Given the description of an element on the screen output the (x, y) to click on. 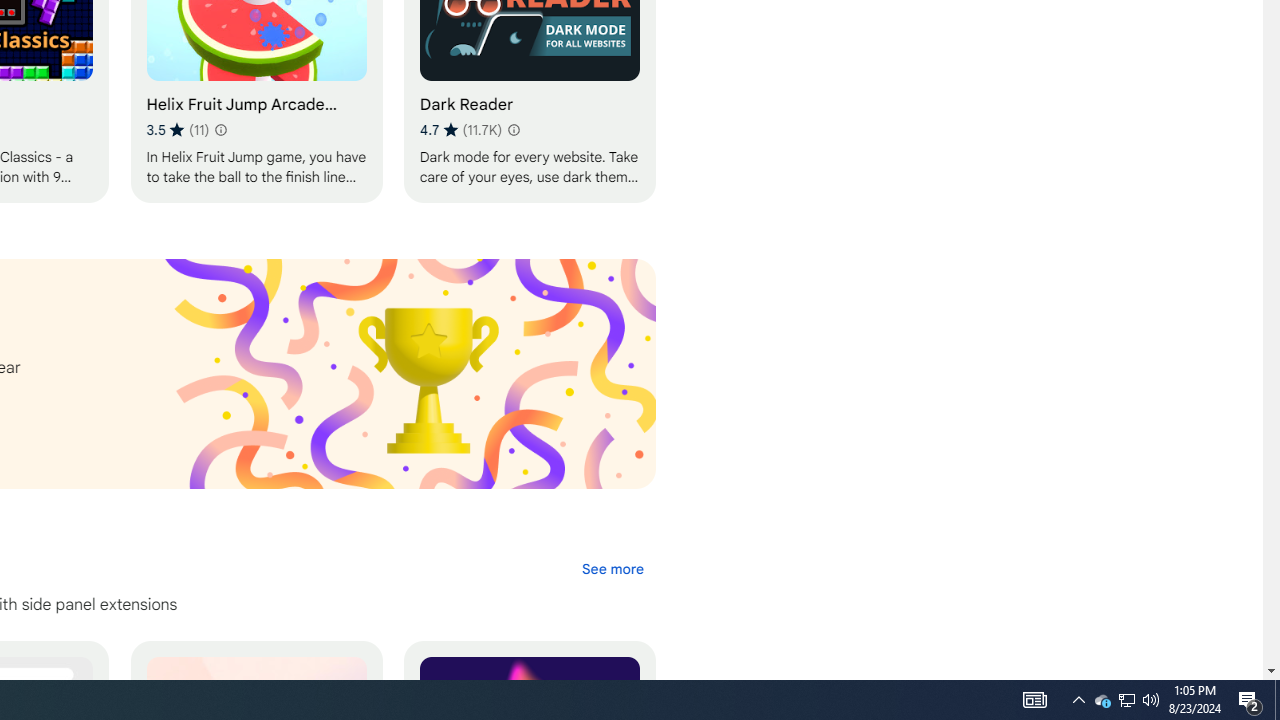
See more of the "Extend your browser" collection (612, 569)
Average rating 3.5 out of 5 stars. 11 ratings. (176, 129)
Average rating 4.7 out of 5 stars. 11.7K ratings. (459, 129)
Learn more about results and reviews "Dark Reader" (512, 129)
